Given the description of an element on the screen output the (x, y) to click on. 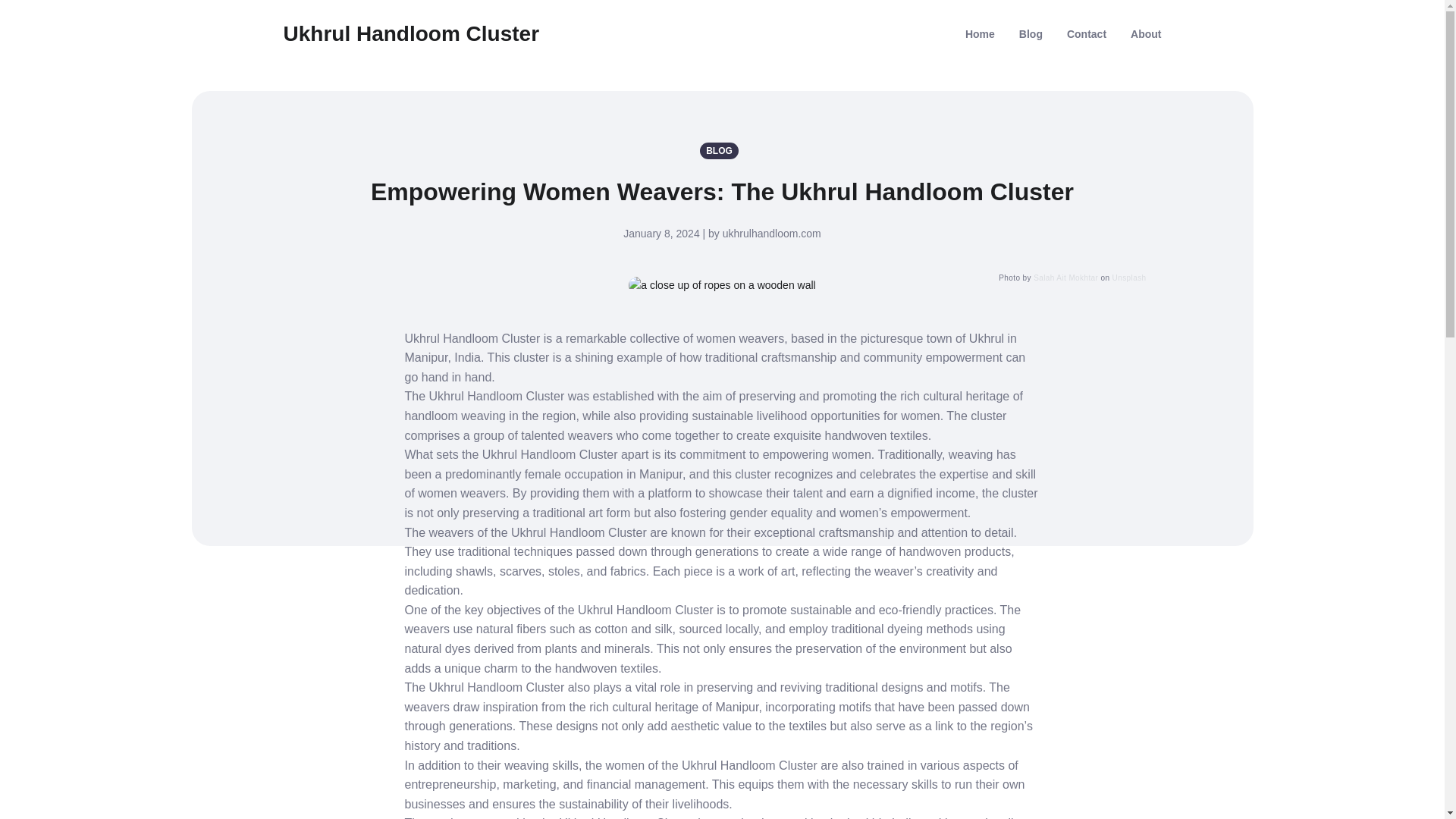
Contact (1086, 33)
Ukhrul Handloom Cluster (411, 33)
BLOG (722, 150)
Salah Ait Mokhtar (1065, 277)
Blog (1030, 33)
Unsplash (1129, 277)
Photo by Salah Ait Mokhtar (721, 284)
About (1145, 33)
Home (979, 33)
